Given the description of an element on the screen output the (x, y) to click on. 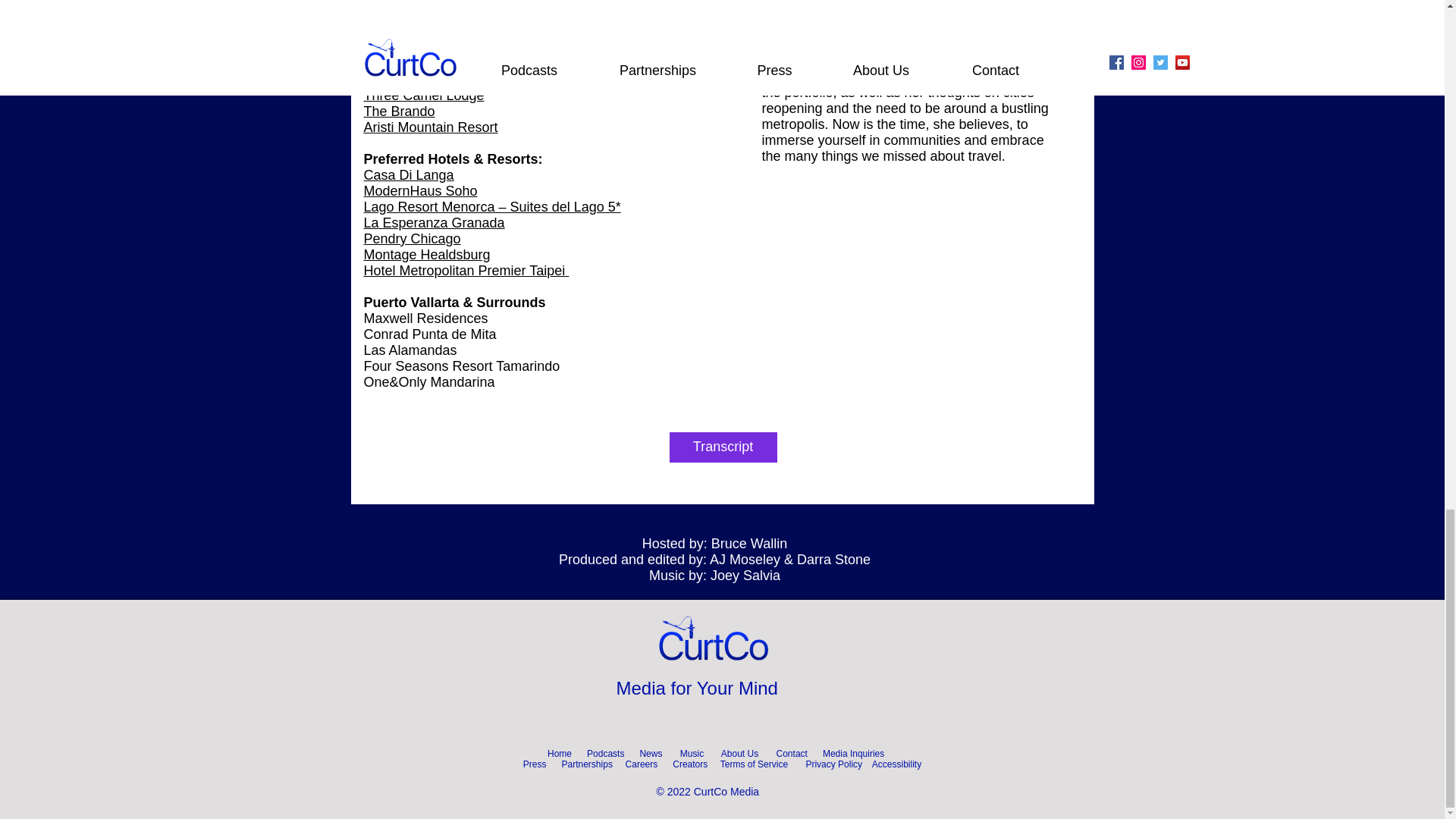
Pendry Chicago (412, 238)
La Esperanza Granada (434, 222)
ModernHaus Soho (420, 191)
Casa Di Langa (409, 174)
Three Camel Lodge (424, 95)
Aristi Mountain Resort (430, 127)
The Brando (399, 111)
Hotel Metropolitan Premier Taipei  (466, 270)
Montage Healdsburg (427, 254)
Bentwood Inn (405, 63)
Xigera Safari Lodge (424, 79)
